Given the description of an element on the screen output the (x, y) to click on. 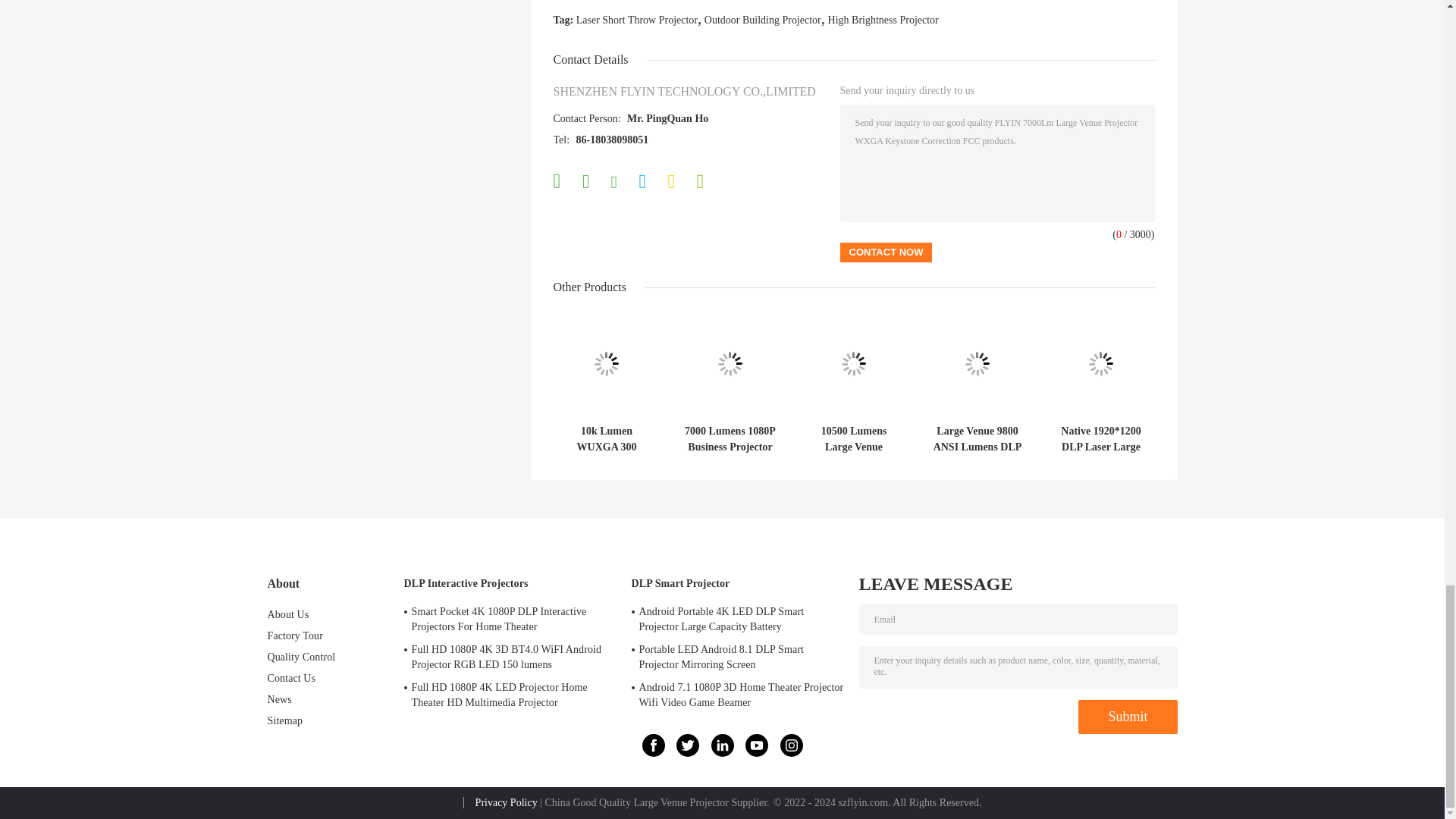
Submit (1127, 716)
Contact Now (886, 252)
